Given the description of an element on the screen output the (x, y) to click on. 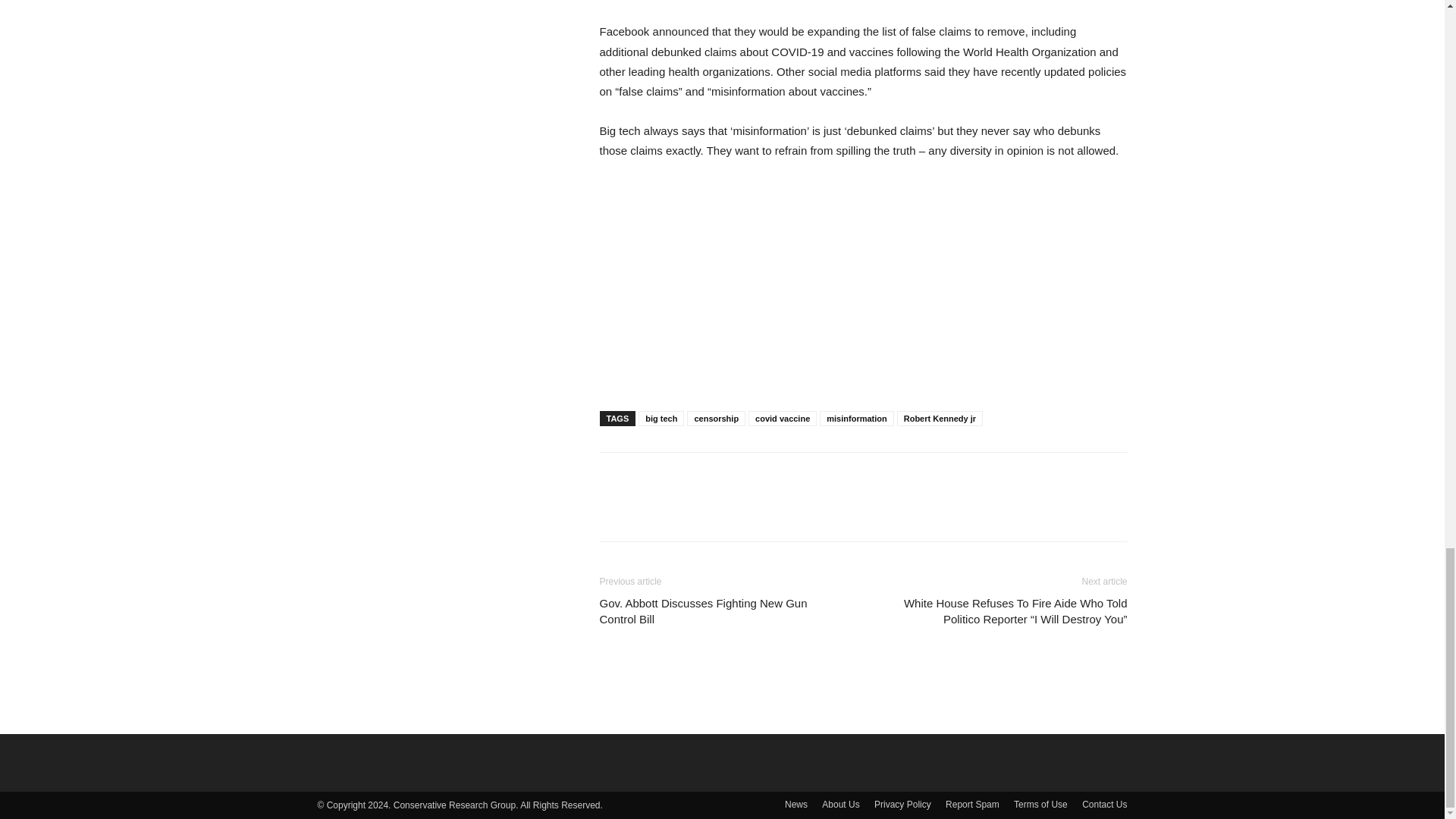
Robert Kennedy jr (939, 418)
covid vaccine (782, 418)
misinformation (856, 418)
censorship (716, 418)
big tech (661, 418)
